Given the description of an element on the screen output the (x, y) to click on. 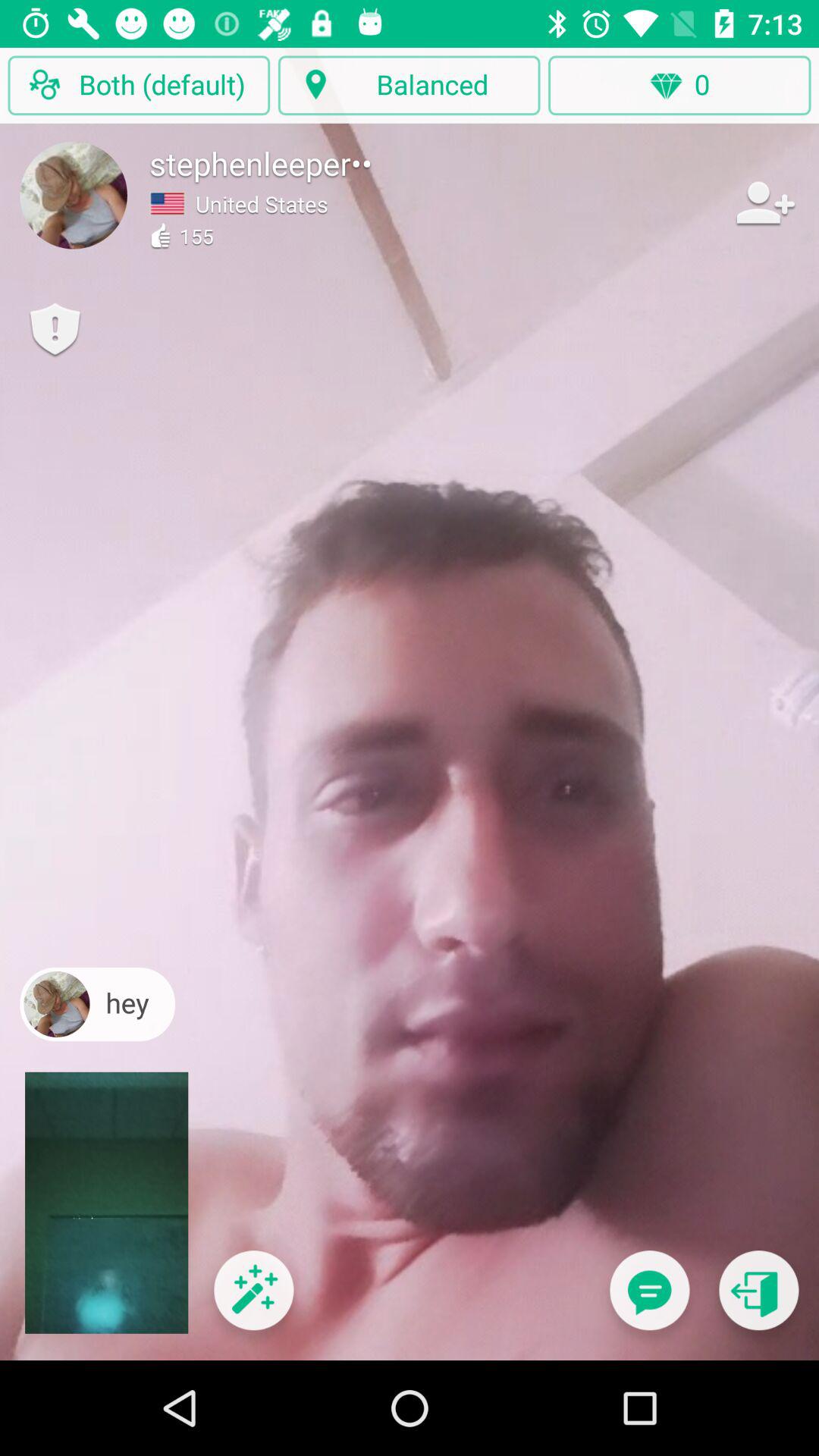
send text message (649, 1300)
